Given the description of an element on the screen output the (x, y) to click on. 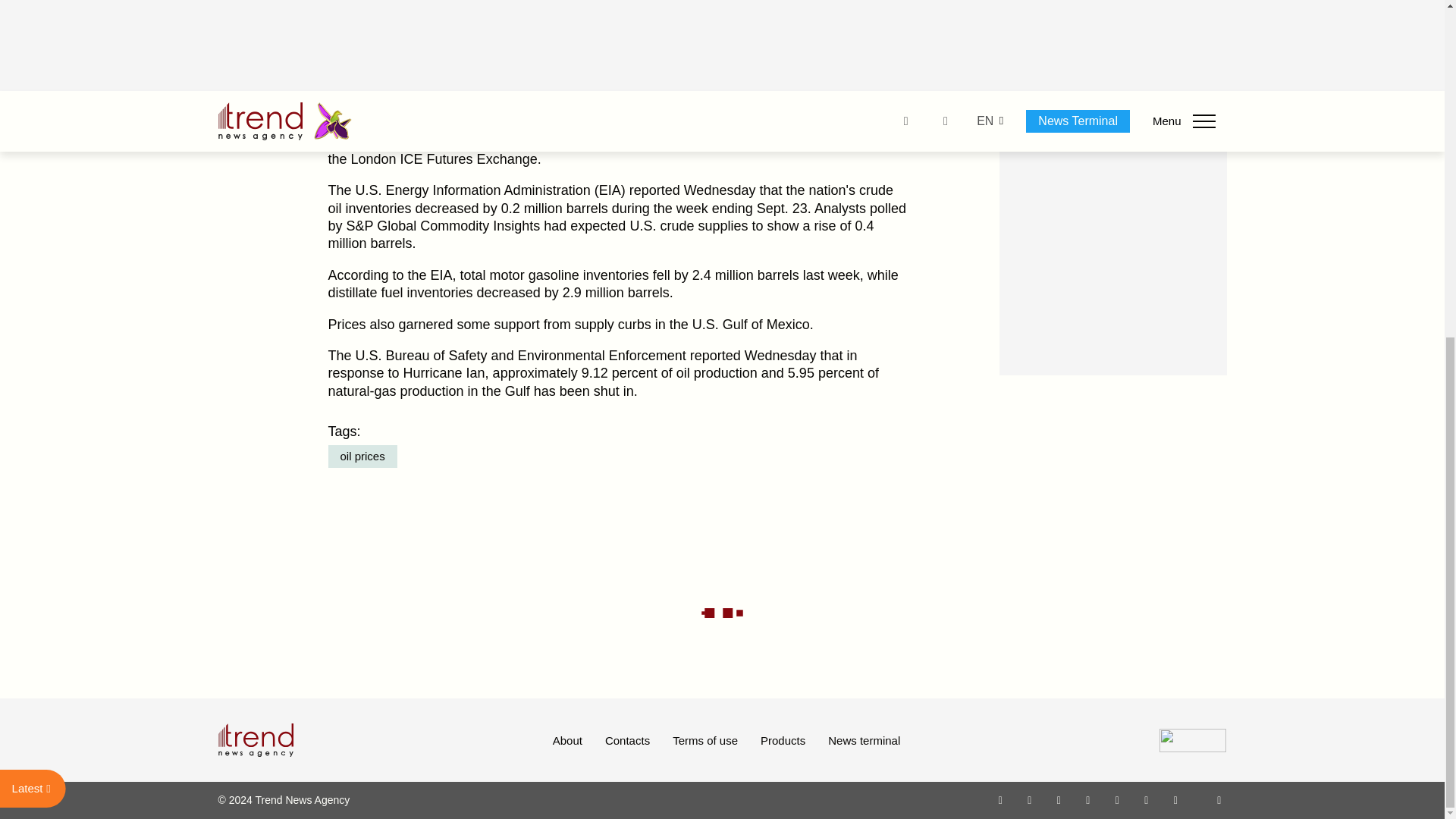
Twitter (1059, 799)
Youtube (1088, 799)
Android App (1176, 799)
Telegram (1117, 799)
RSS Feed (1219, 799)
Facebook (1029, 799)
LinkedIn (1146, 799)
Whatsapp (1000, 799)
